Given the description of an element on the screen output the (x, y) to click on. 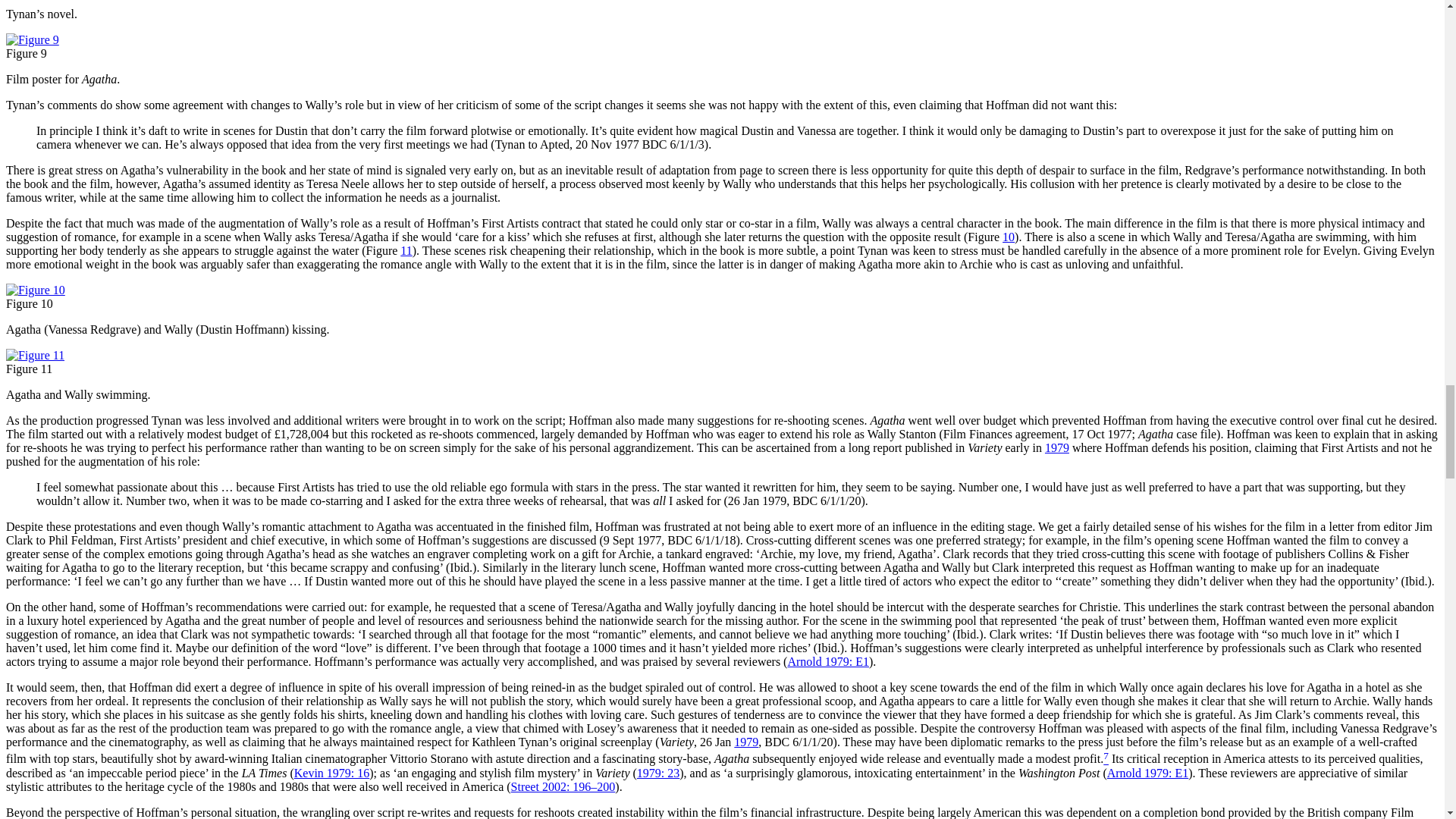
Figure 10 (35, 289)
Figure 11 (34, 354)
Figure 9 (32, 39)
